Given the description of an element on the screen output the (x, y) to click on. 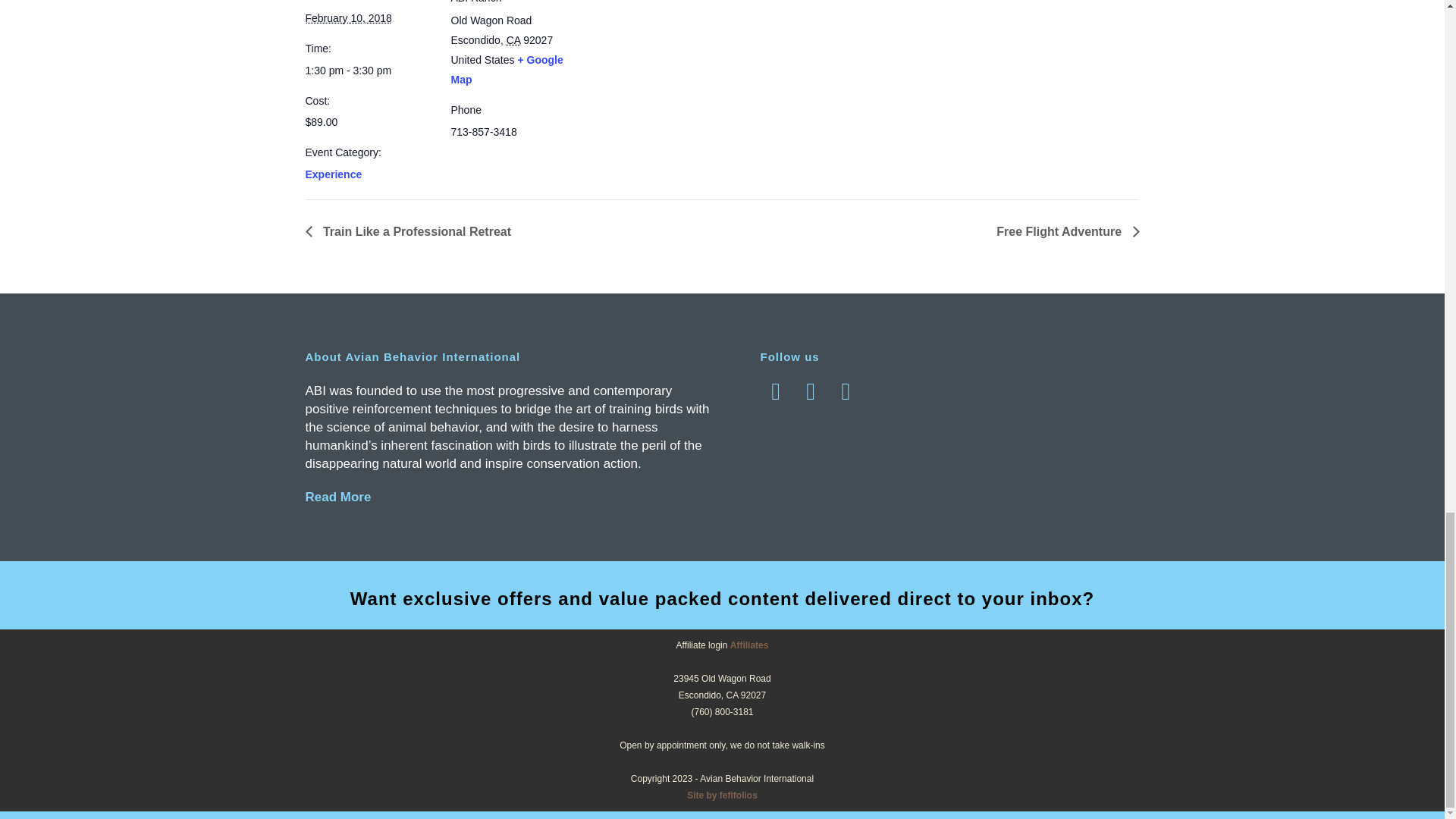
Avian Behavior's Instagram (811, 399)
2018-02-10 (368, 70)
Avian Behavior's Youtube (846, 399)
2018-02-10 (347, 18)
Click to view a Google Map (505, 69)
Avian Behavior's Facebook (777, 399)
Google maps iframe displaying the address to ABI Ranch (675, 63)
California (513, 39)
